Given the description of an element on the screen output the (x, y) to click on. 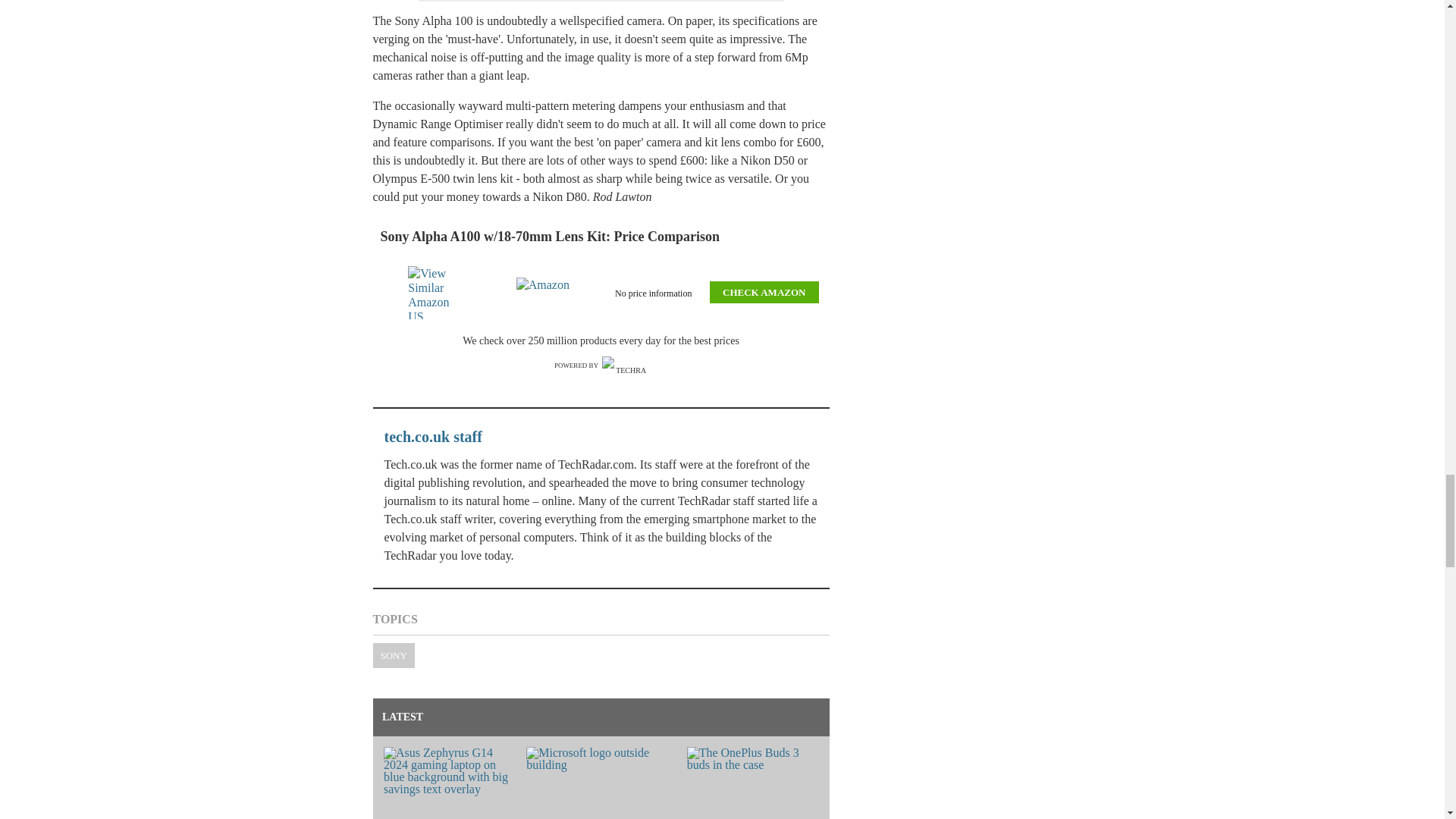
View Similar Amazon US (437, 292)
Techradar (624, 365)
Amazon (546, 292)
